Given the description of an element on the screen output the (x, y) to click on. 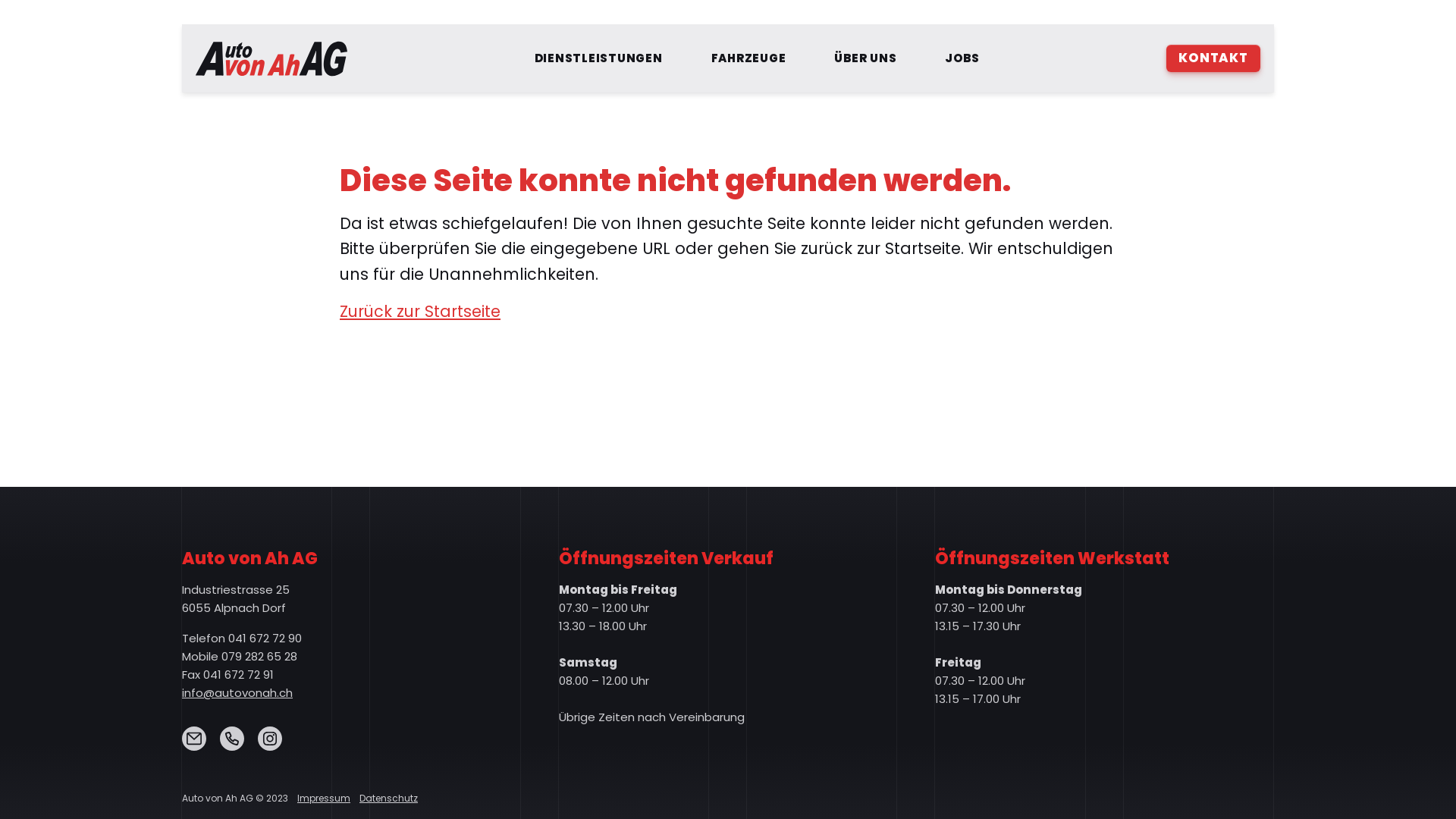
FAHRZEUGE Element type: text (748, 58)
Impressum Element type: text (323, 797)
DIENSTLEISTUNGEN Element type: text (598, 58)
info@autovonah.ch Element type: text (237, 692)
JOBS Element type: text (961, 58)
Datenschutz Element type: text (388, 797)
KONTAKT Element type: text (1213, 58)
